Given the description of an element on the screen output the (x, y) to click on. 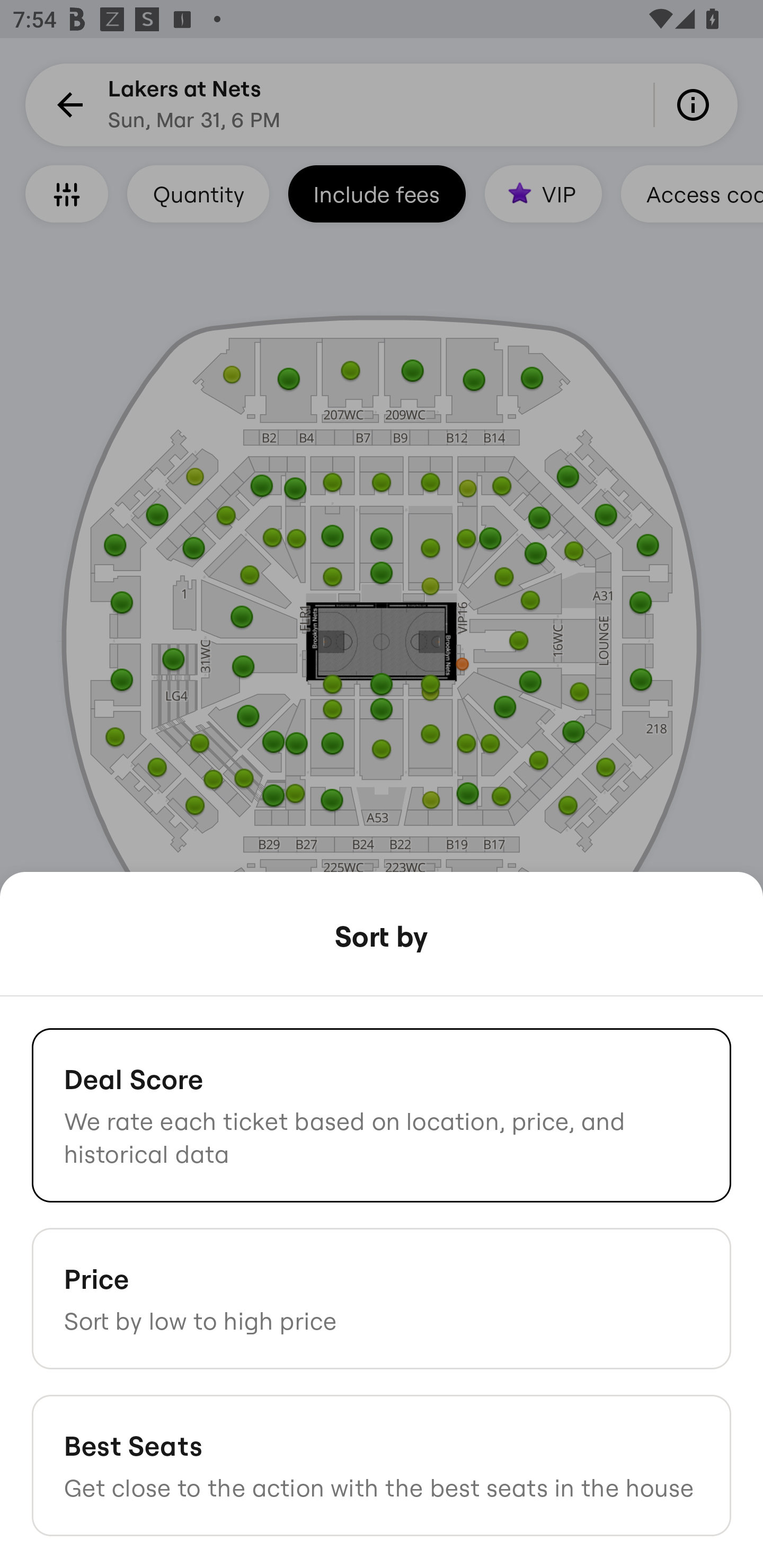
Price Sort by low to high price (381, 1297)
